Given the description of an element on the screen output the (x, y) to click on. 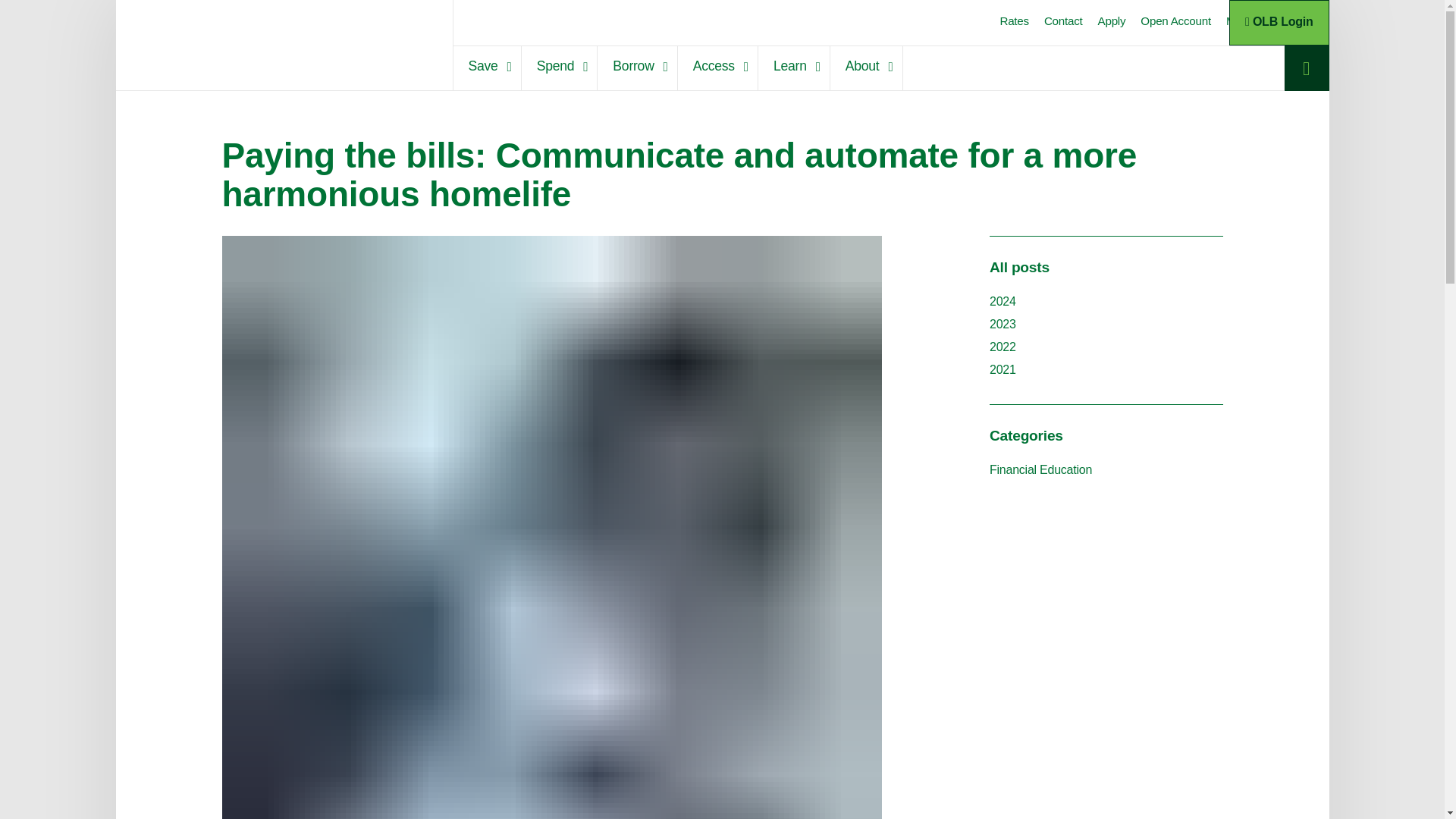
Skip to login (720, 13)
Save (486, 67)
Learn (793, 67)
Great Erie Federal Credit Union (254, 39)
Spend (558, 67)
Borrow (636, 67)
Skip to sitemap (721, 13)
Access (717, 67)
Skip to main content (721, 13)
